Given the description of an element on the screen output the (x, y) to click on. 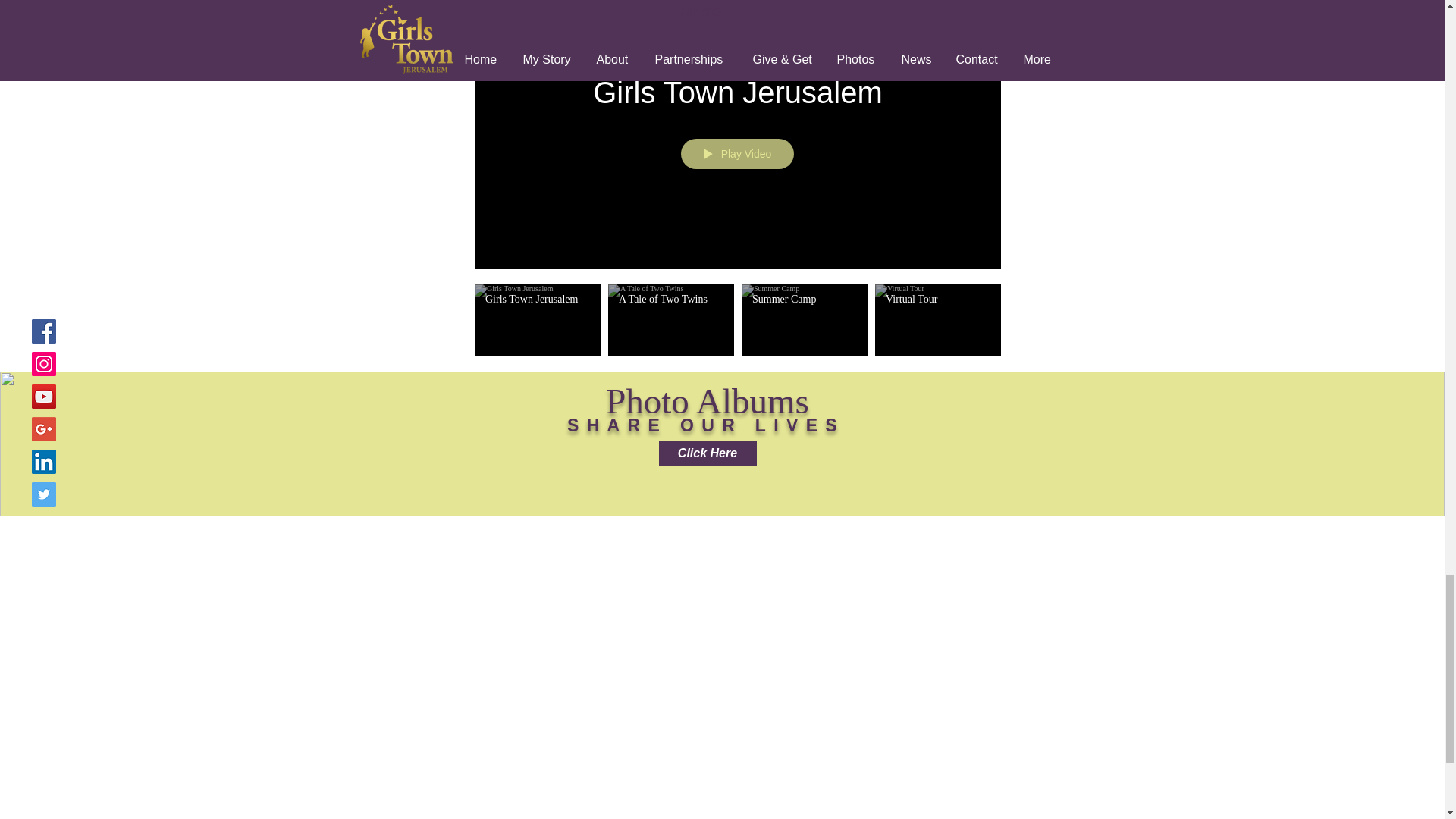
Play Video (736, 153)
Virtual Tour (937, 298)
Girls Town Jerusalem (536, 298)
Summer Camp (804, 298)
A Tale of Two Twins (670, 298)
Girls Town Jerusalem (738, 92)
